Given the description of an element on the screen output the (x, y) to click on. 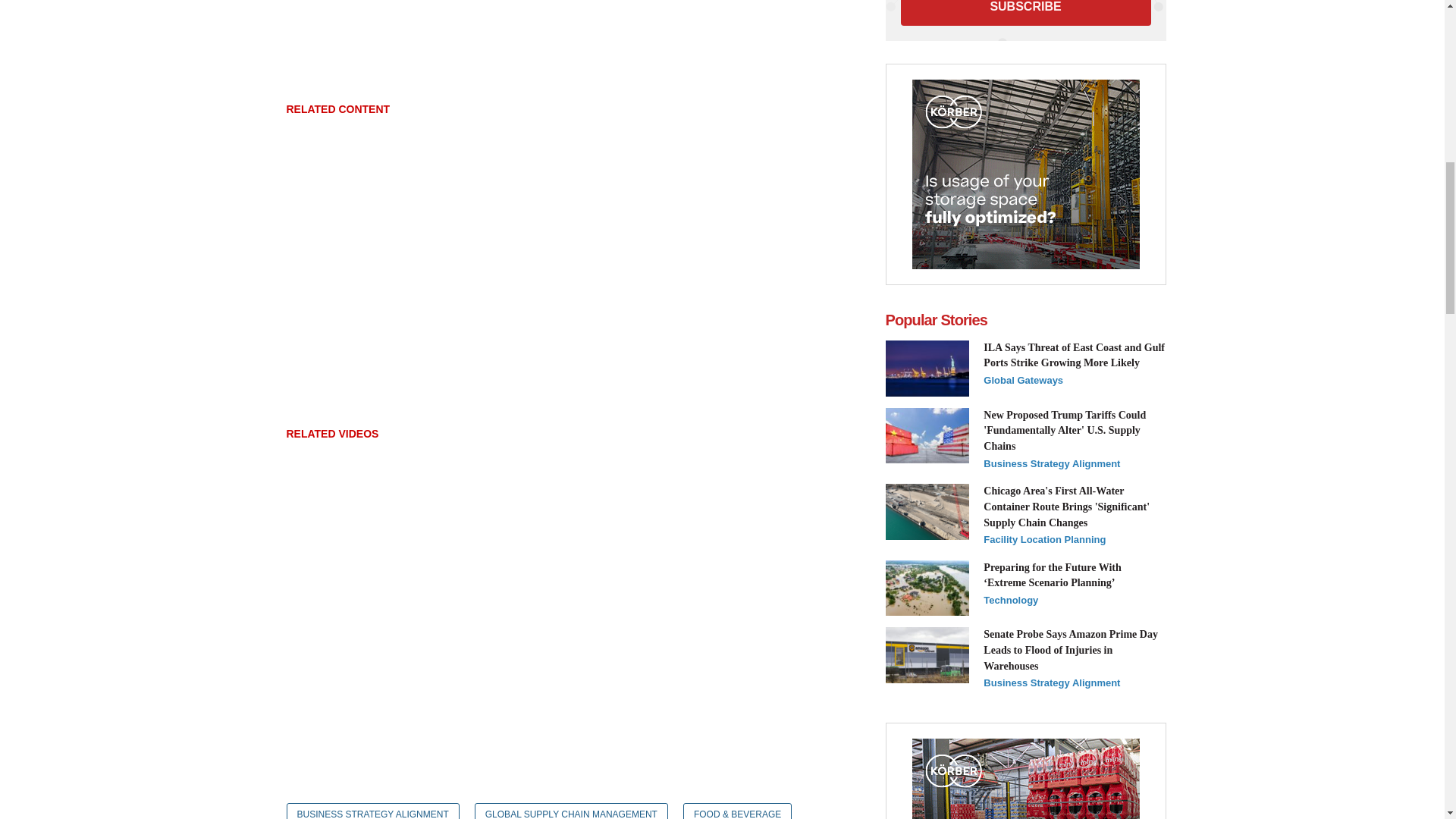
FLOOD CLIMATE CHANGE UKRAINE iStock-Bilanol-1327617934.jpg (927, 588)
burns-harbor-construction-indiana-courtesy-photo.png (927, 511)
AMAZON FULFILLMENT CENTER iStock- josefkubes -653189006.jpg (927, 655)
china-us-tariffs-mr-socrates-iStock-987983000.jpg (927, 435)
Subscribe (1026, 12)
